Given the description of an element on the screen output the (x, y) to click on. 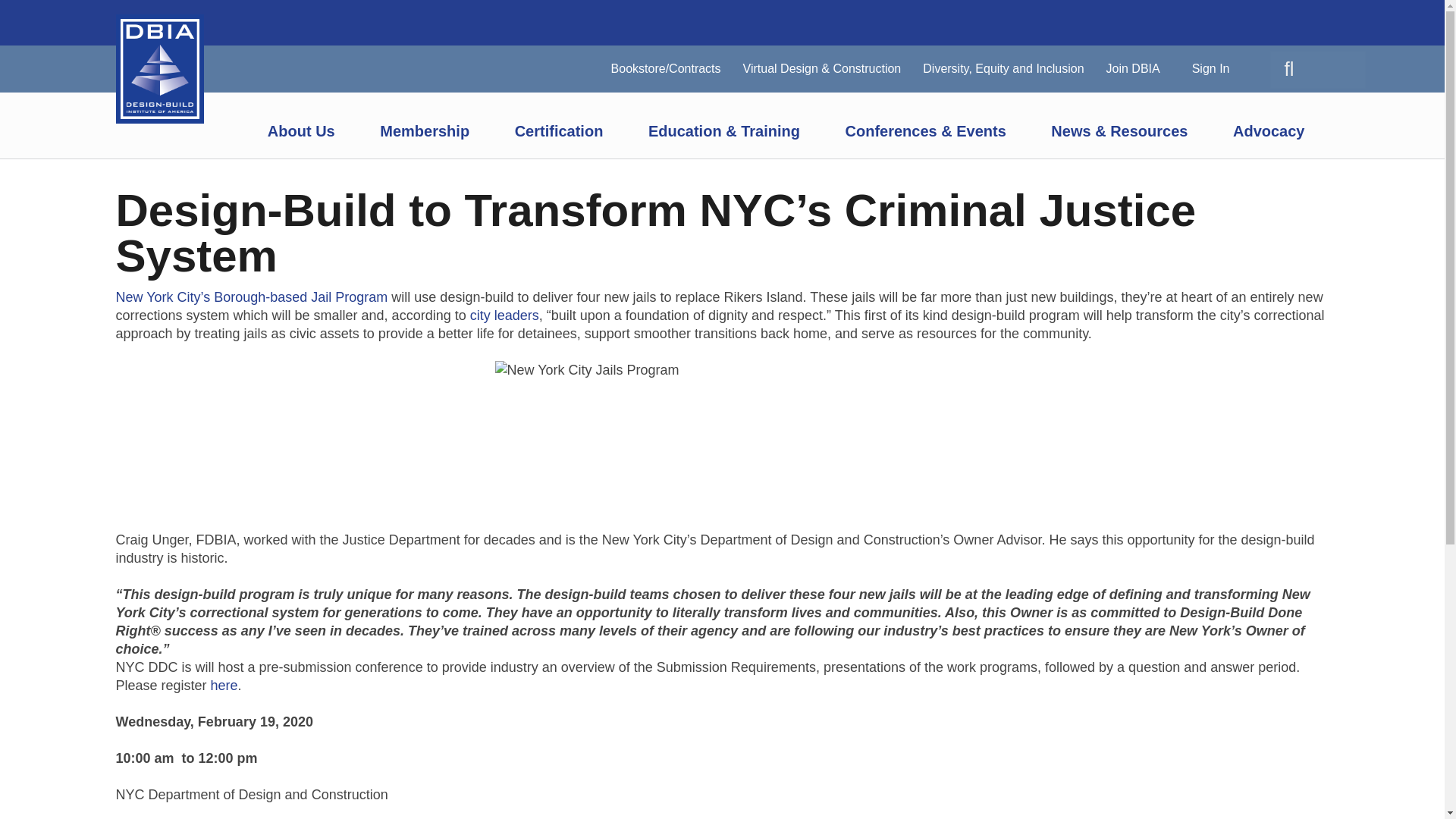
Sign In (1210, 68)
Diversity, Equity and Inclusion (1003, 68)
Certification (535, 131)
Membership (401, 131)
Join DBIA (1133, 68)
About Us (278, 131)
